Given the description of an element on the screen output the (x, y) to click on. 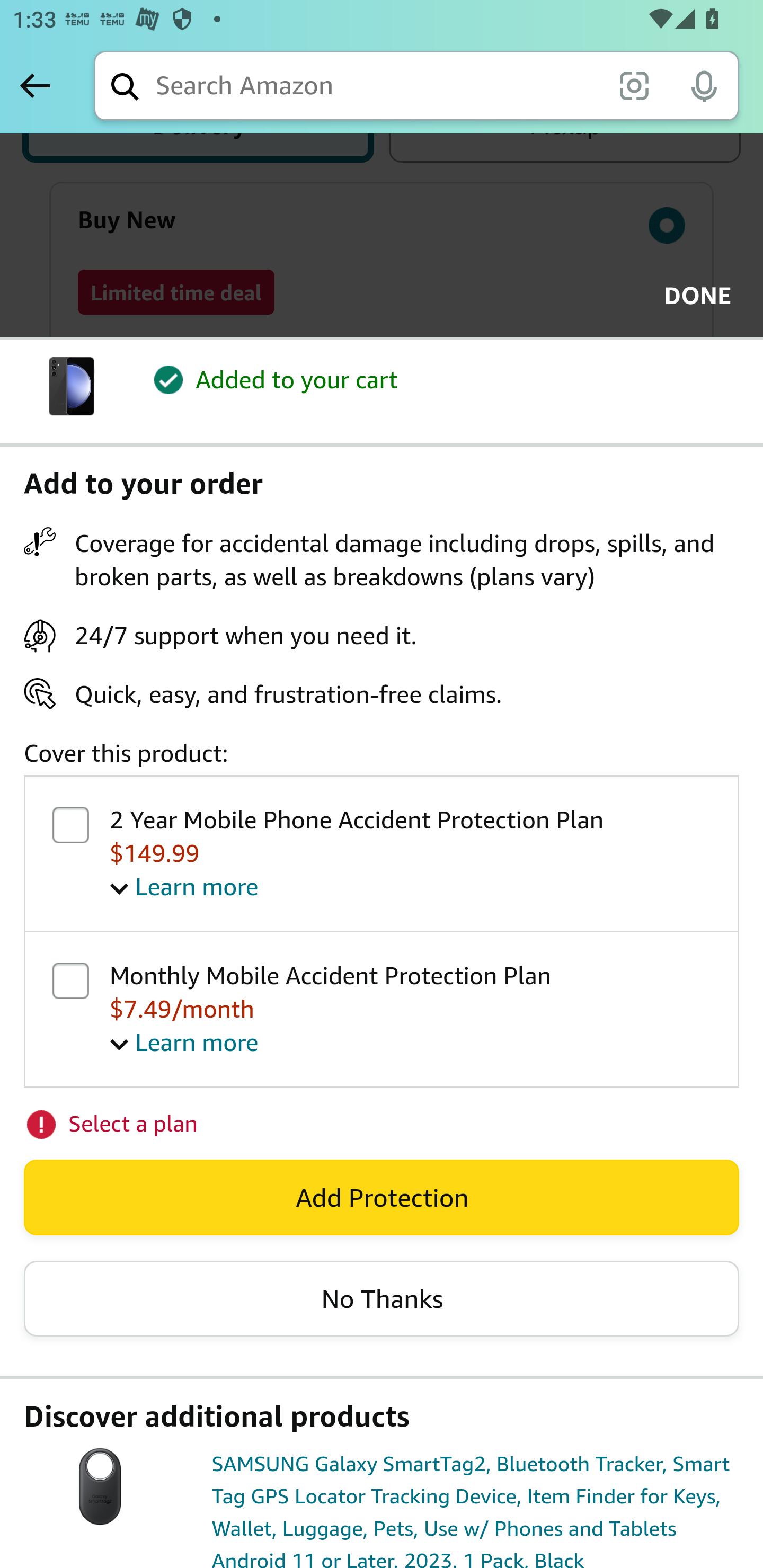
Back (35, 85)
scan it (633, 85)
DONE (691, 295)
Learn more (184, 886)
Learn more (184, 1042)
Add Protection (381, 1197)
No Thanks (381, 1298)
